Given the description of an element on the screen output the (x, y) to click on. 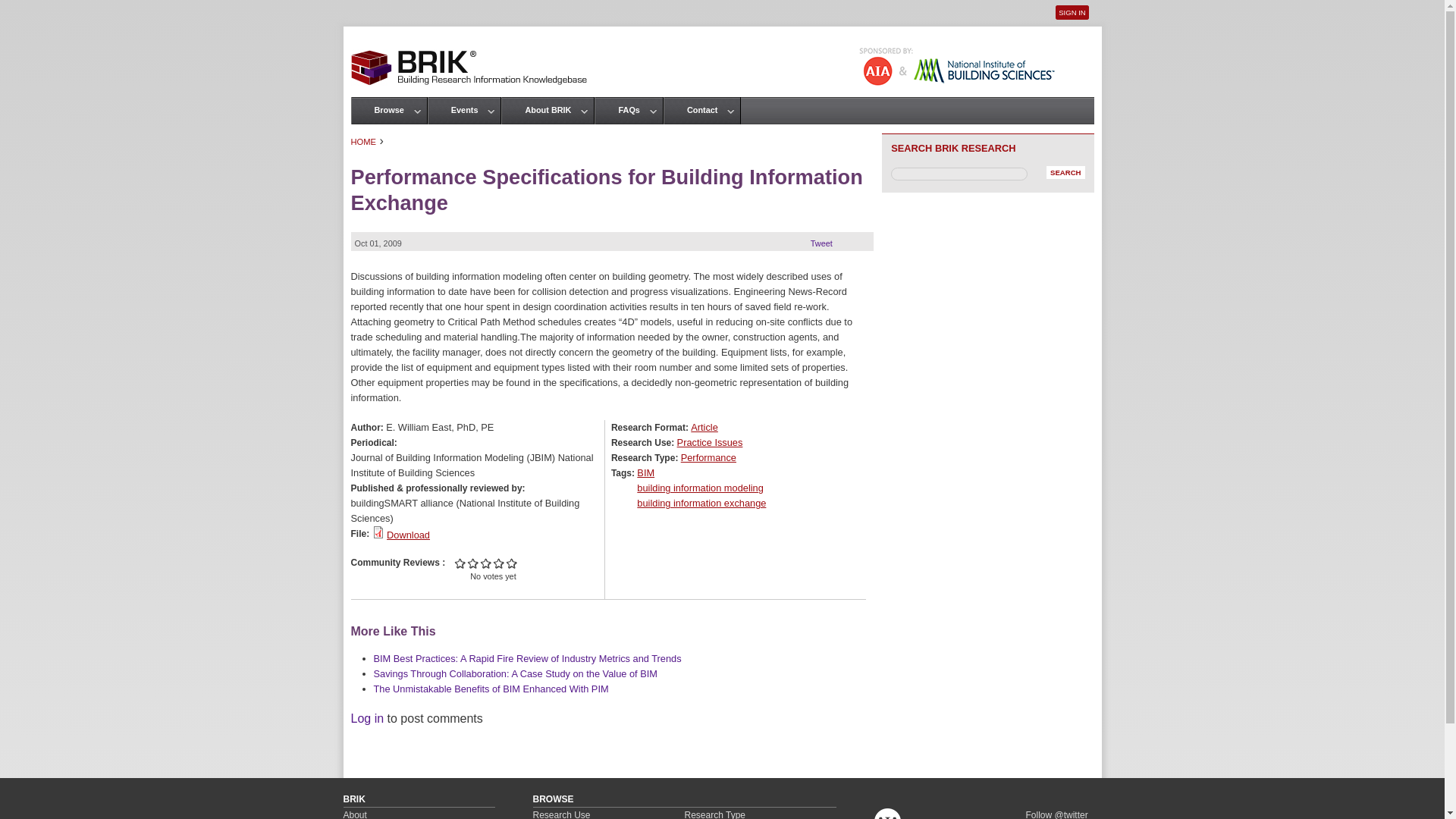
About (354, 814)
Browse (389, 109)
Log in (367, 717)
Enter the terms you wish to search for. (957, 173)
building information modeling (699, 487)
Home (468, 61)
BIM (645, 472)
About BRIK (547, 109)
SIGN IN (1071, 11)
Contact (702, 109)
Performance (708, 457)
Article (703, 427)
Search (1065, 172)
The Unmistakable Benefits of BIM Enhanced With PIM (490, 688)
